Given the description of an element on the screen output the (x, y) to click on. 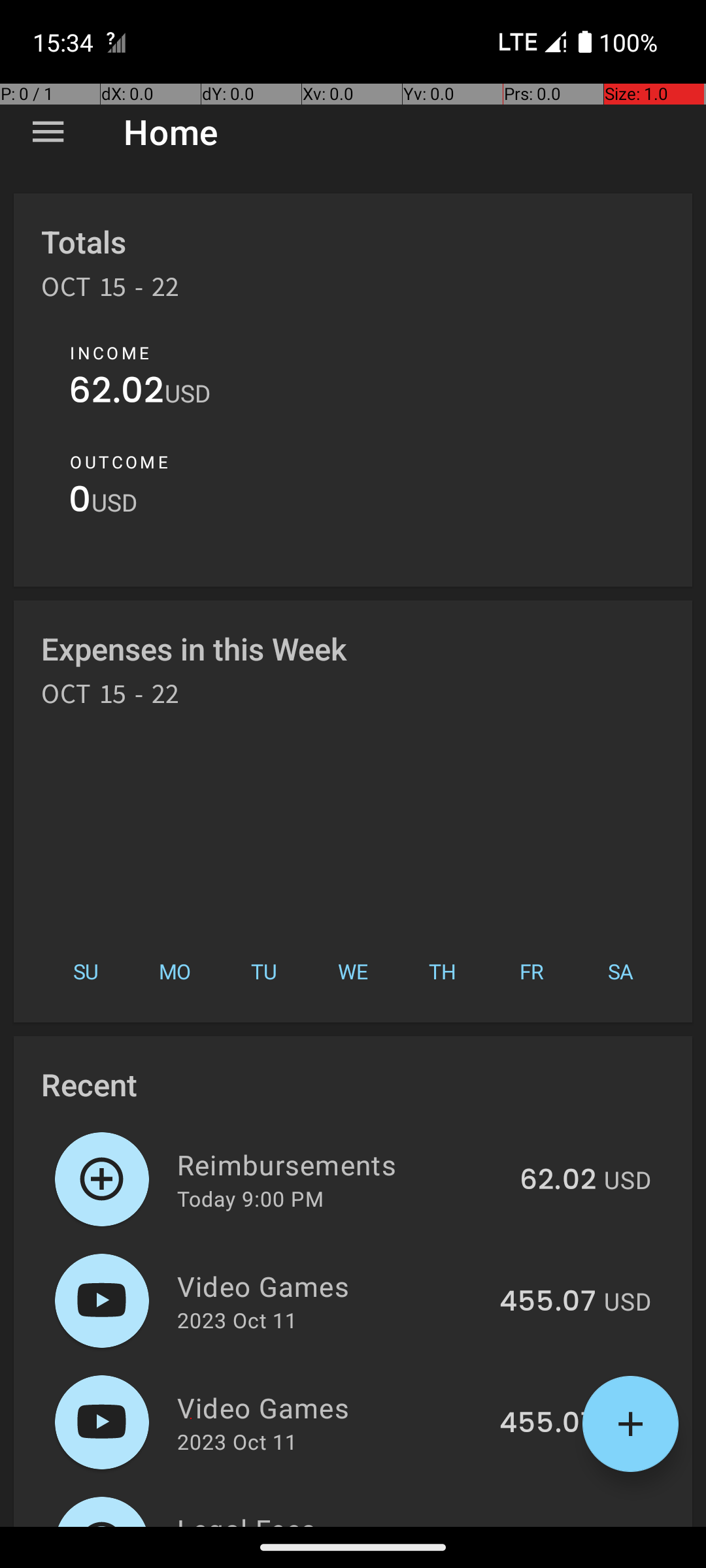
62.02 Element type: android.widget.TextView (116, 393)
Reimbursements Element type: android.widget.TextView (340, 1164)
Video Games Element type: android.widget.TextView (330, 1285)
455.07 Element type: android.widget.TextView (547, 1301)
Legal Fees Element type: android.widget.TextView (332, 1518)
270.76 Element type: android.widget.TextView (549, 1524)
